Given the description of an element on the screen output the (x, y) to click on. 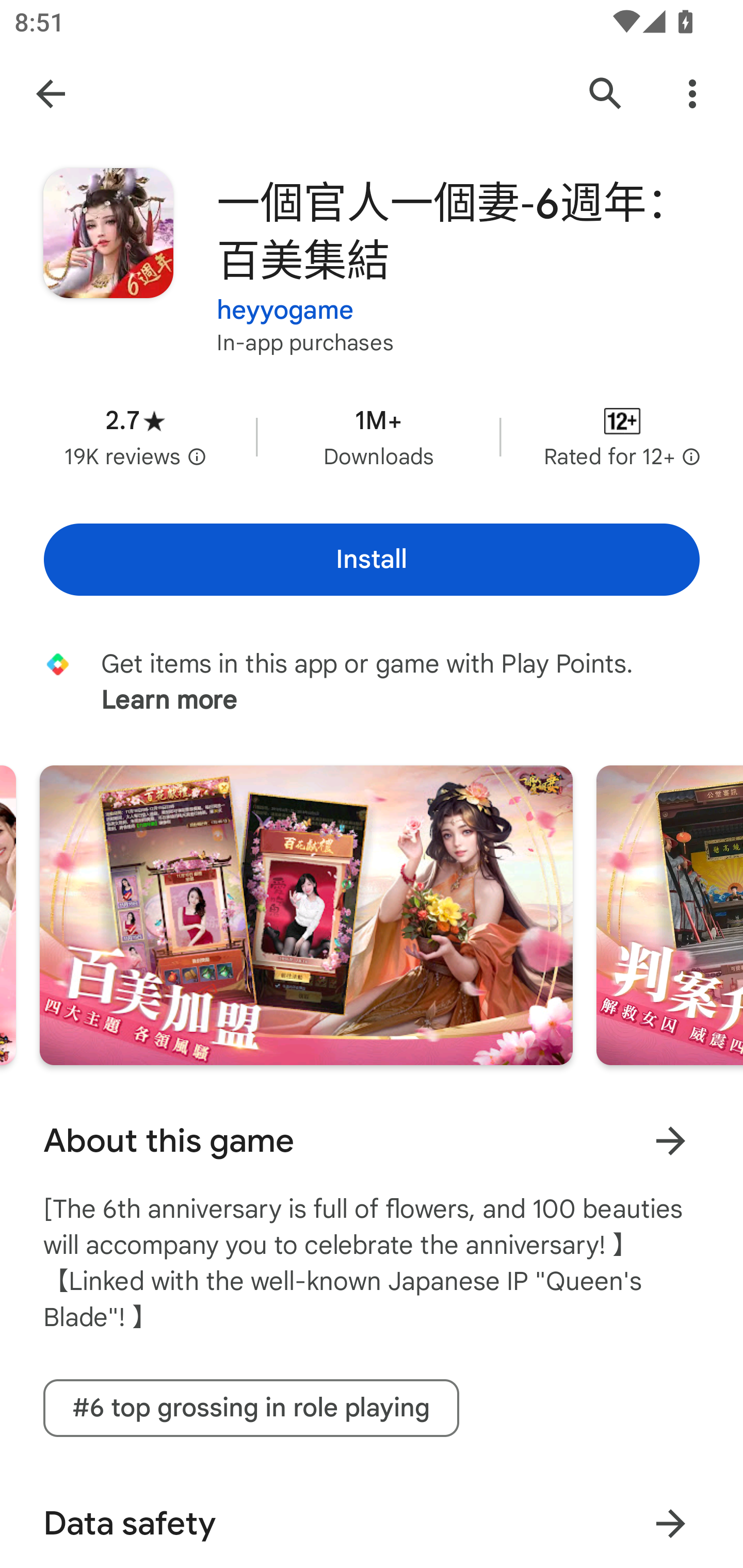
Navigate up (50, 93)
Search Google Play (605, 93)
More Options (692, 93)
heyyogame (284, 297)
Average rating 2.7 stars in 19 thousand reviews (135, 436)
Content rating Rated for 12+ (622, 436)
Install (371, 559)
Screenshot "2" of "5" (305, 914)
About this game Learn more About this game (371, 1140)
Learn more About this game (670, 1140)
#6 top grossing in role playing tag (251, 1407)
Data safety Learn more about data safety (371, 1520)
Learn more about data safety (670, 1523)
